Given the description of an element on the screen output the (x, y) to click on. 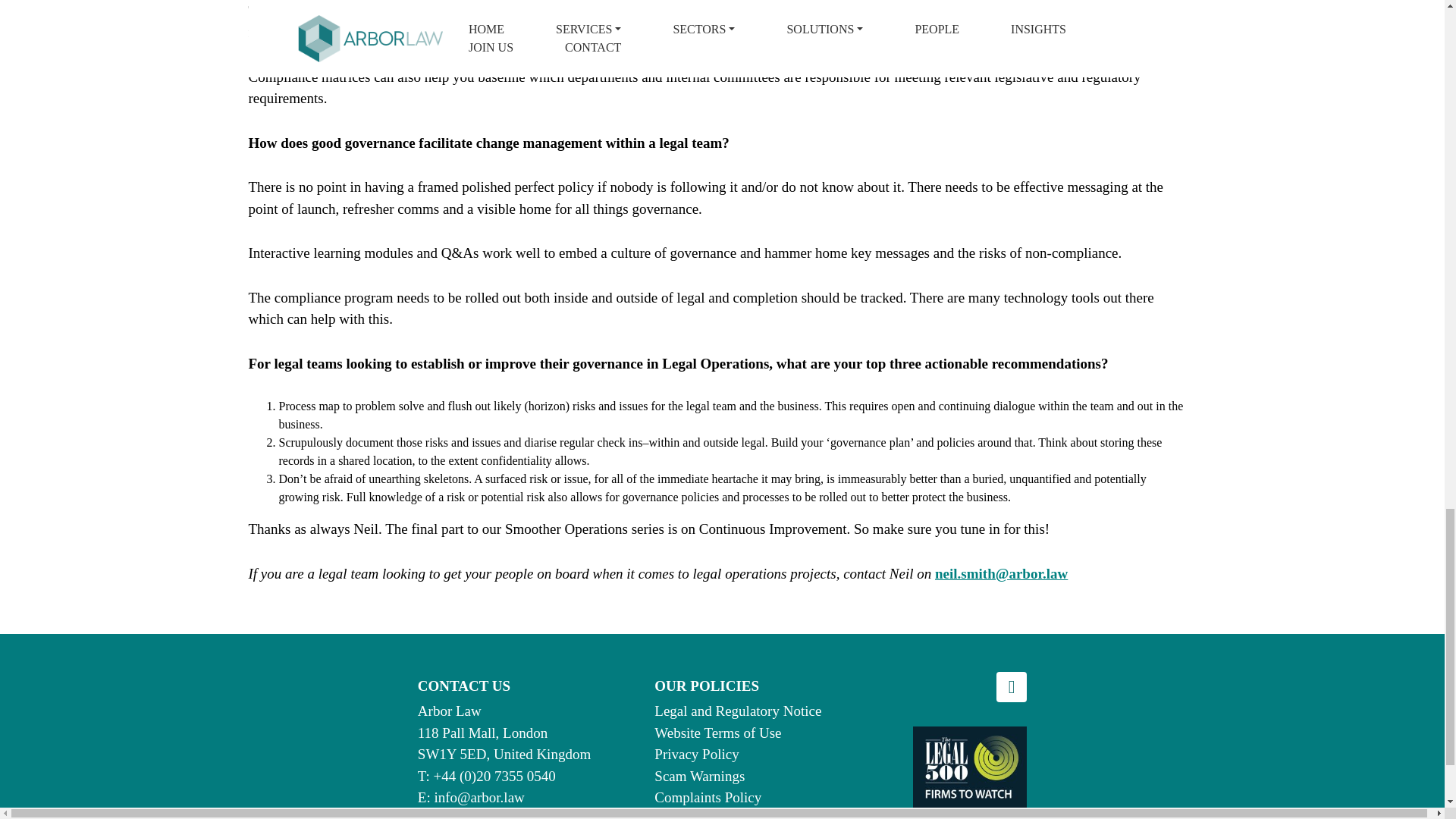
Legal and Regulatory Notice (737, 710)
Website Terms of Use (716, 732)
Privacy Policy (695, 754)
